Given the description of an element on the screen output the (x, y) to click on. 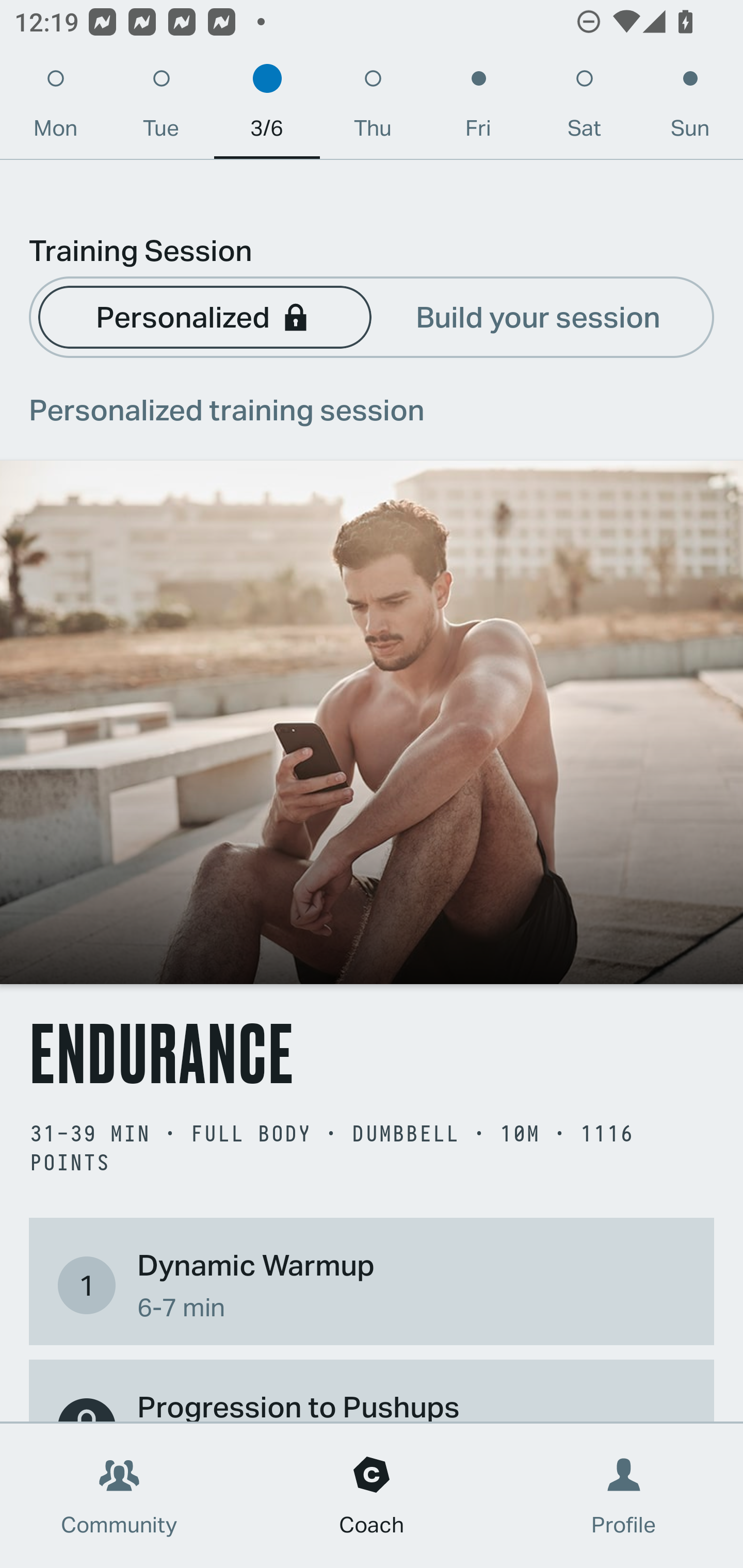
Mon (55, 108)
Tue (160, 108)
3/6 (266, 108)
Thu (372, 108)
Fri (478, 108)
Sat (584, 108)
Sun (690, 108)
Personalized (204, 315)
Build your session (538, 315)
1 Dynamic Warmup 6-7 min (371, 1284)
Community (119, 1495)
Profile (624, 1495)
